Given the description of an element on the screen output the (x, y) to click on. 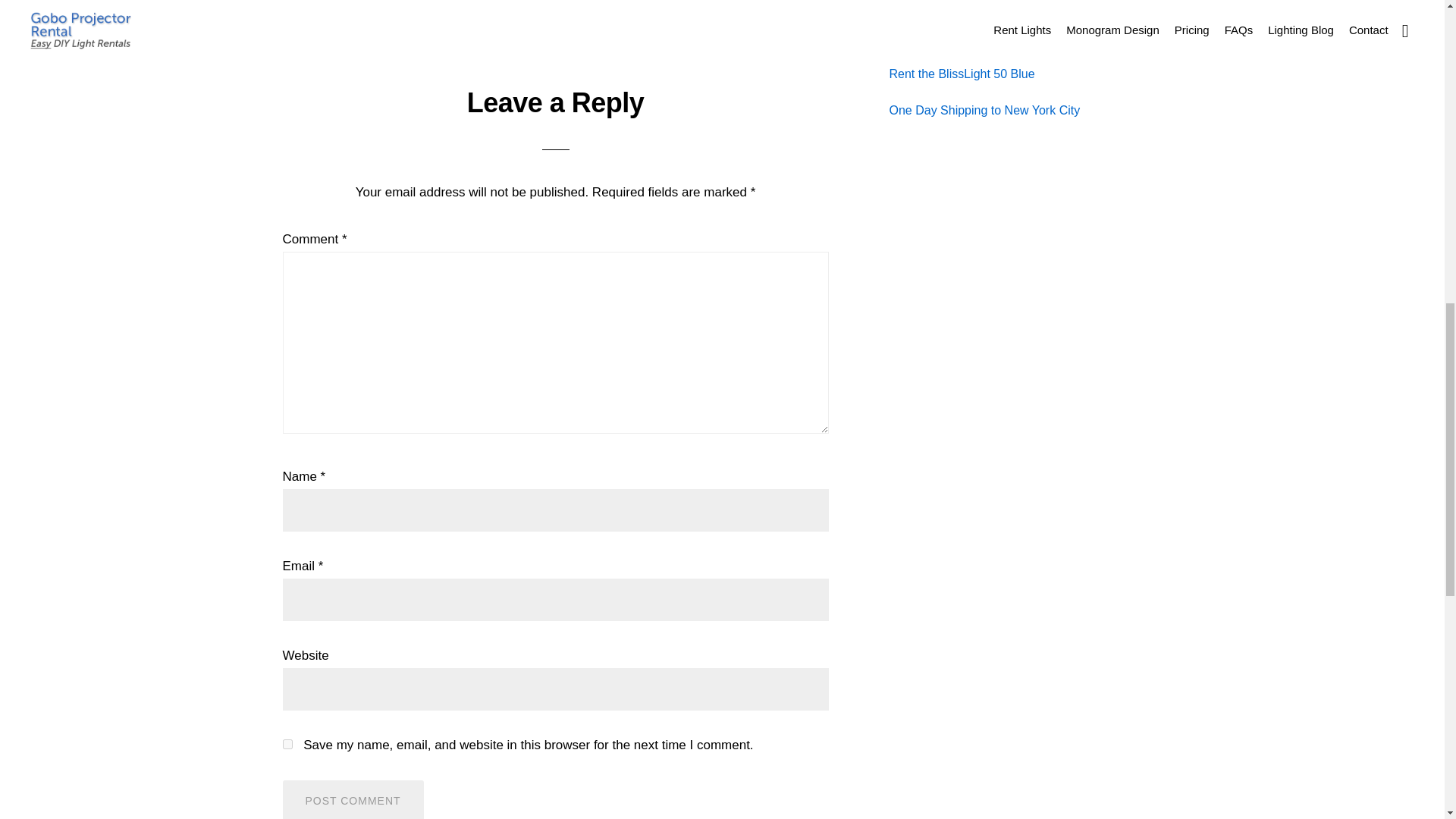
yes (287, 744)
name in lights (454, 2)
Post Comment (352, 799)
birthday (387, 2)
